Given the description of an element on the screen output the (x, y) to click on. 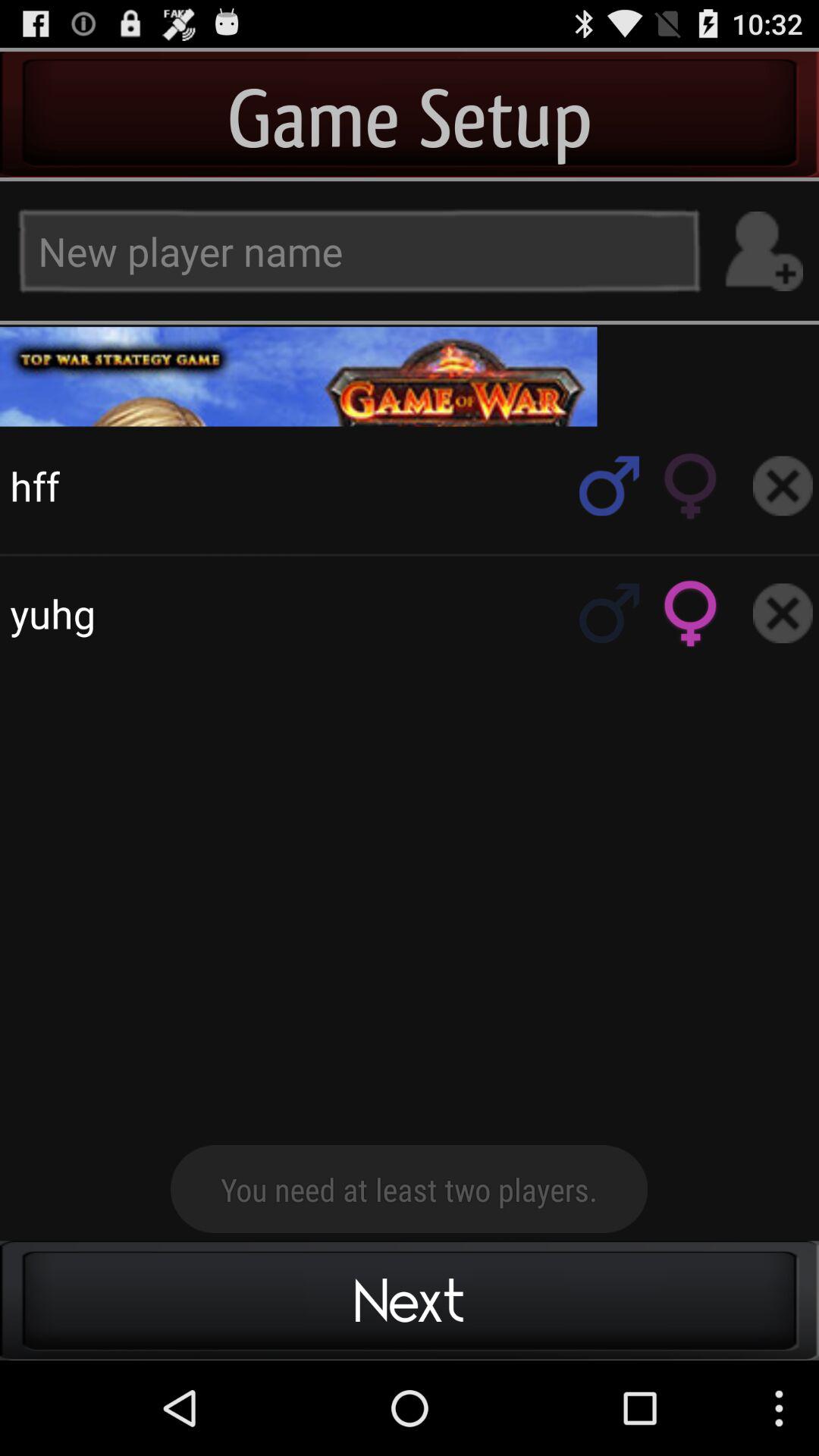
remove player (782, 485)
